Given the description of an element on the screen output the (x, y) to click on. 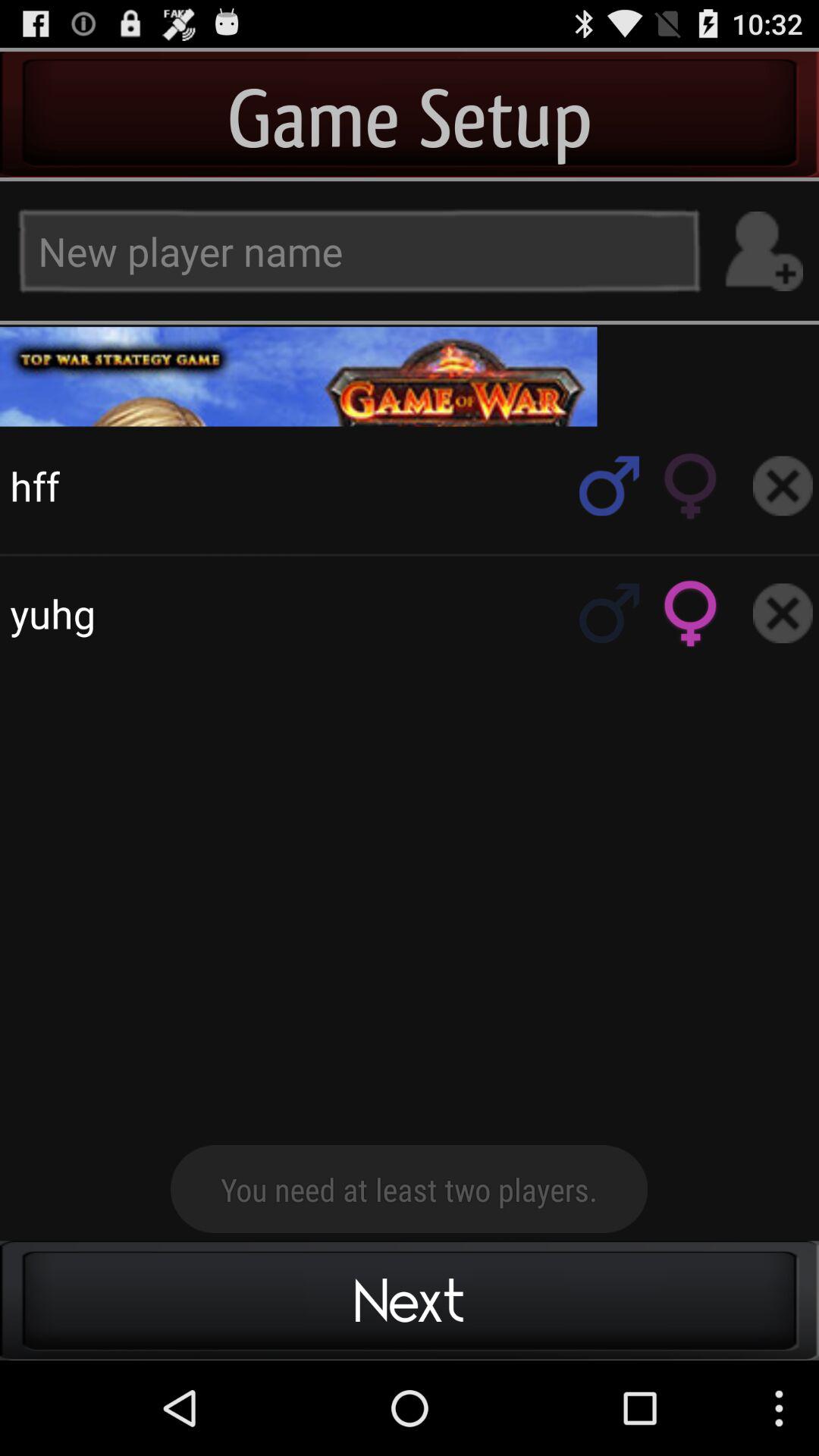
remove player (782, 485)
